Given the description of an element on the screen output the (x, y) to click on. 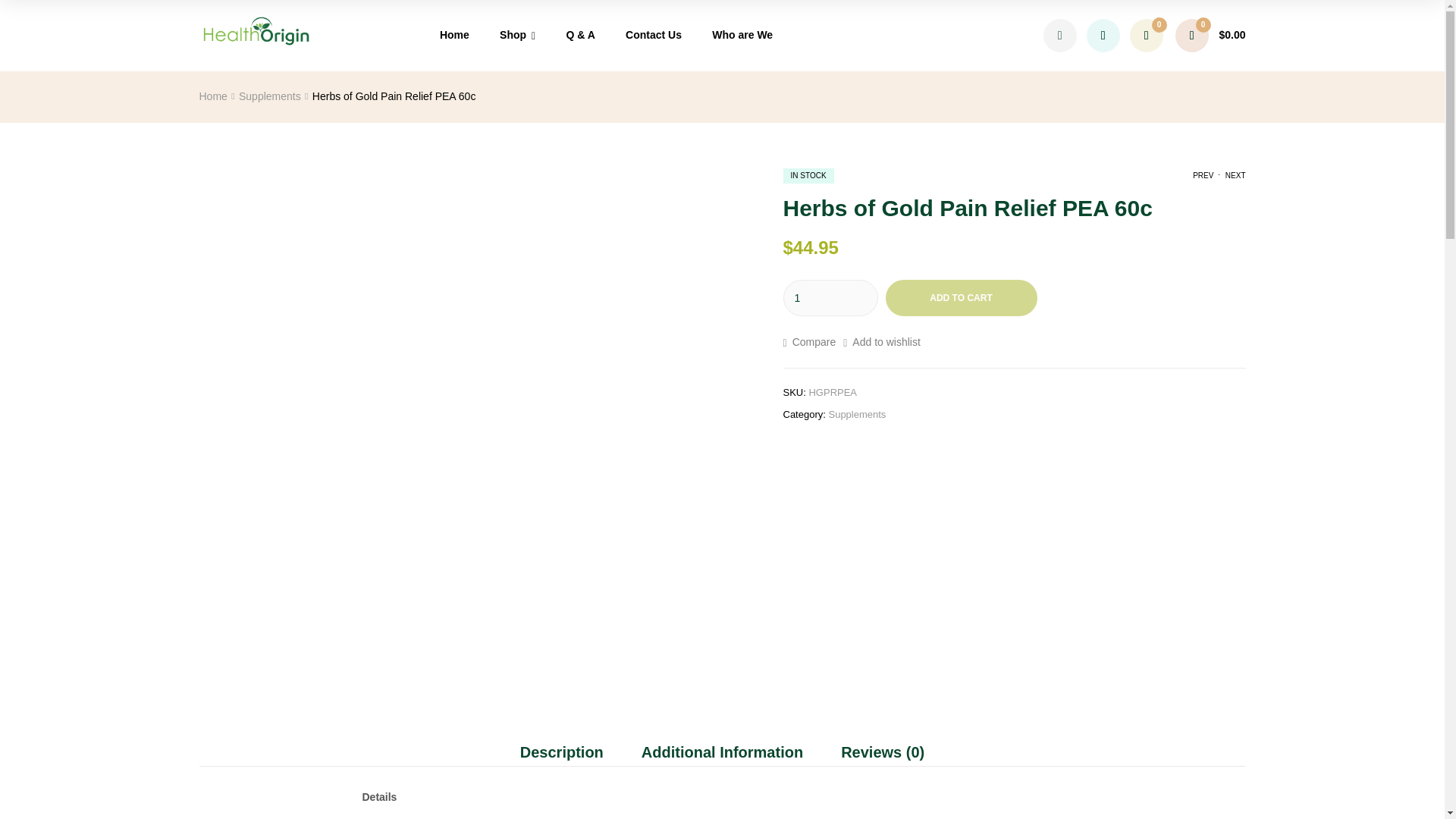
View your shopping cart (1210, 35)
Shop (518, 35)
Home (454, 35)
1 (830, 298)
